Given the description of an element on the screen output the (x, y) to click on. 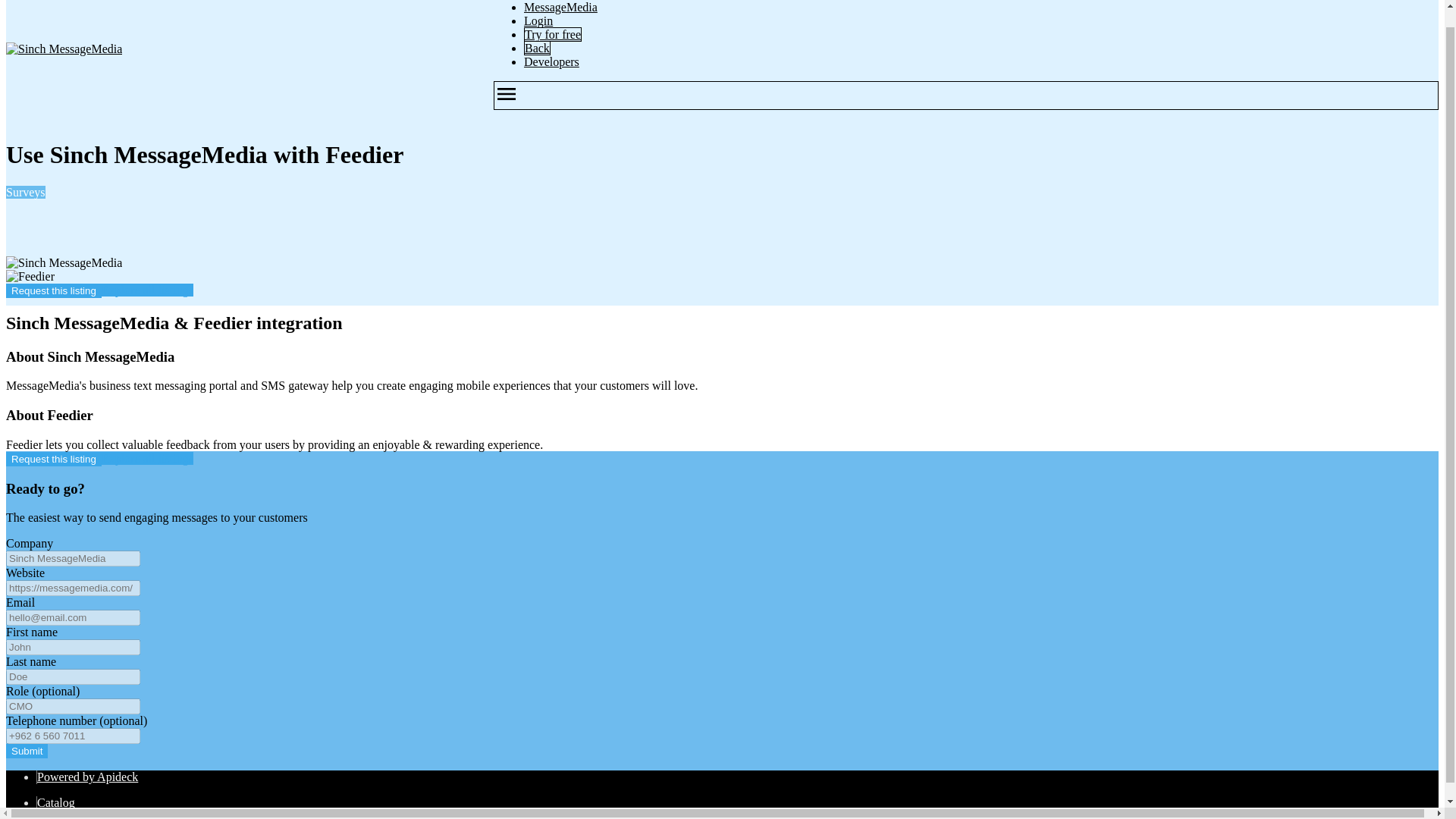
Catalog (56, 802)
Sinch MessageMedia (63, 49)
Sinch MessageMedia (63, 263)
Request this listing (53, 290)
Powered by Apideck (87, 776)
Back (537, 47)
Login (538, 20)
Explore all listings (147, 458)
Request this listing (53, 459)
MessageMedia (560, 6)
